Given the description of an element on the screen output the (x, y) to click on. 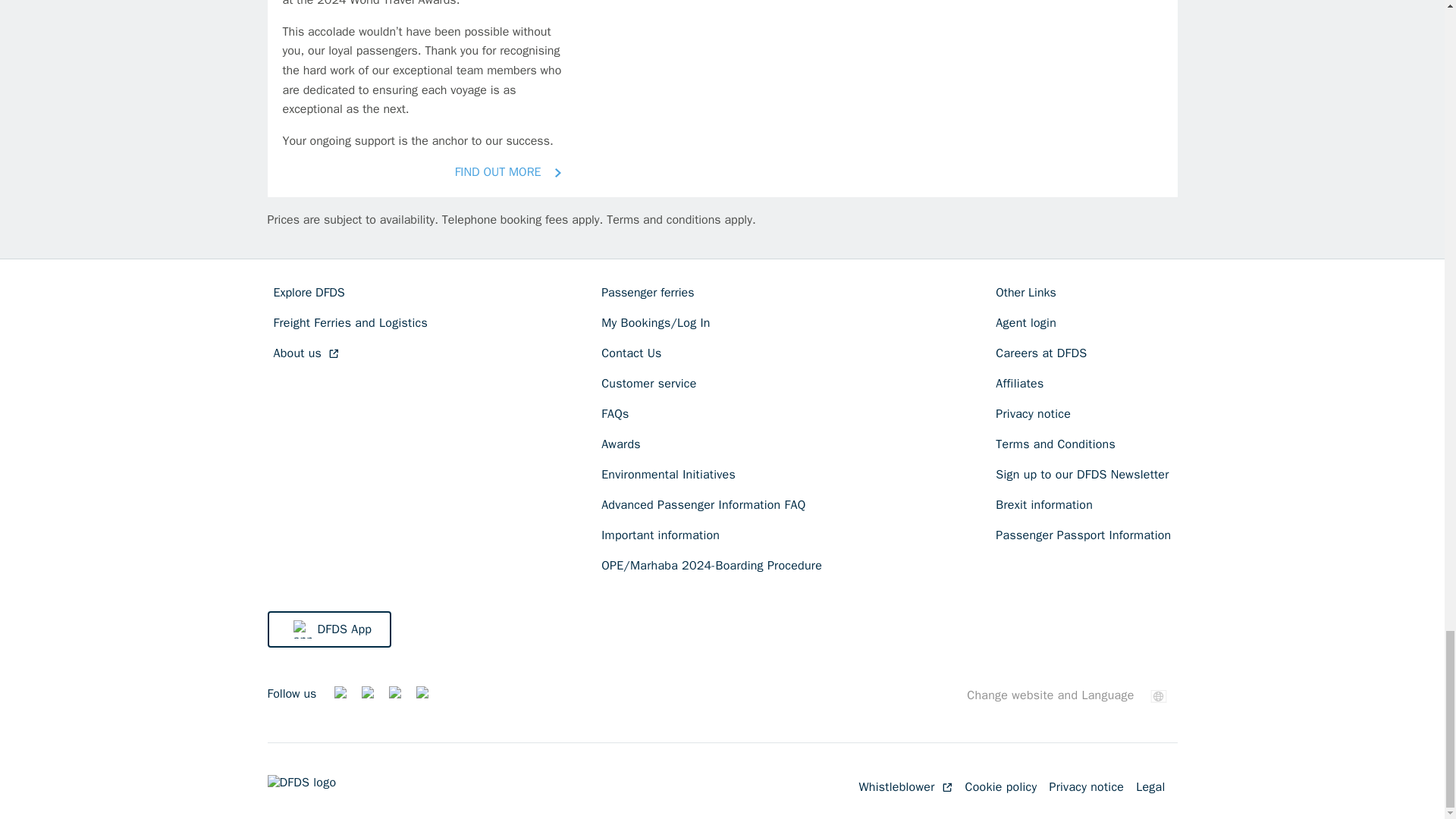
en (1158, 696)
